Given the description of an element on the screen output the (x, y) to click on. 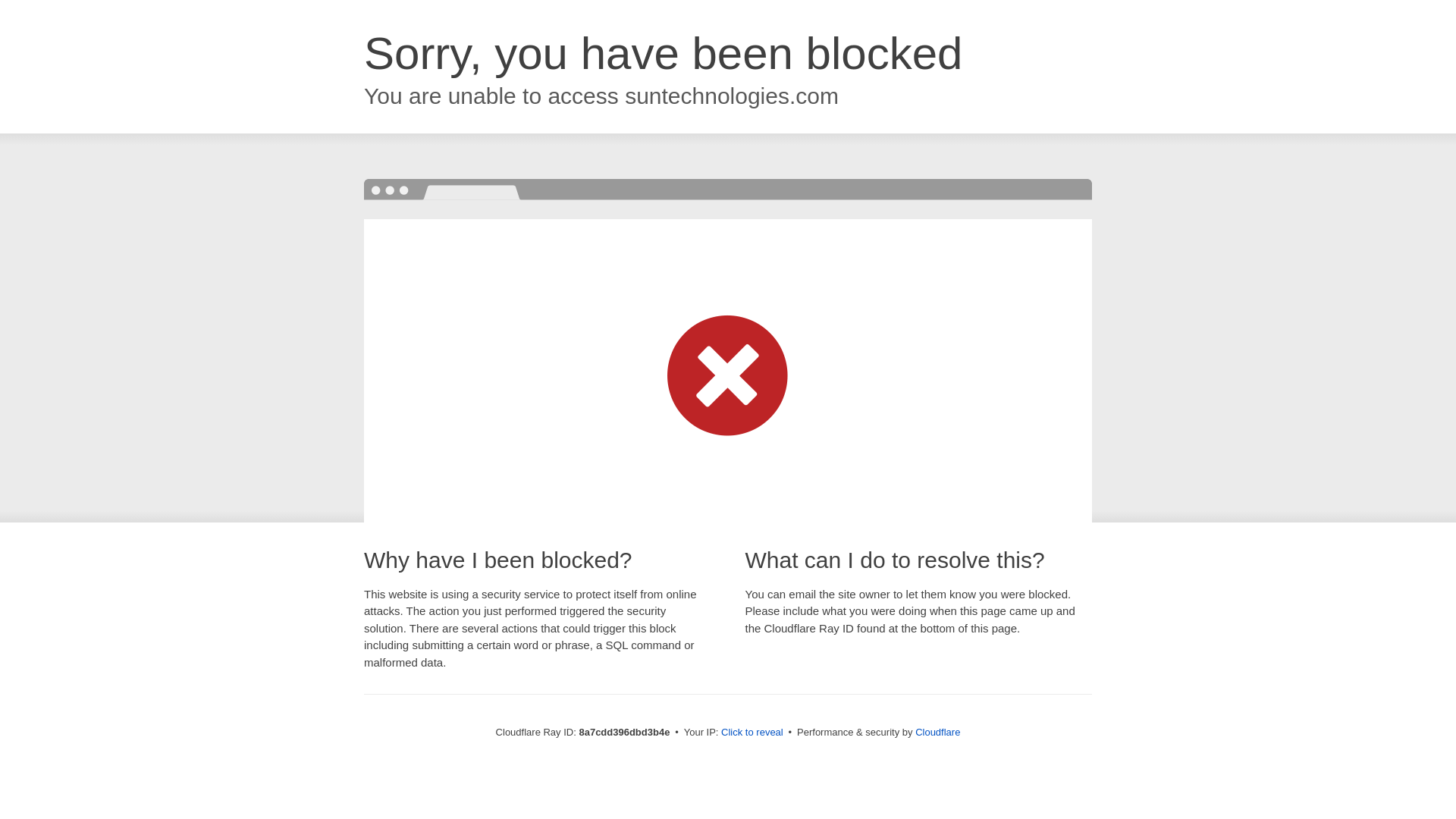
Click to reveal (751, 732)
Cloudflare (937, 731)
